Given the description of an element on the screen output the (x, y) to click on. 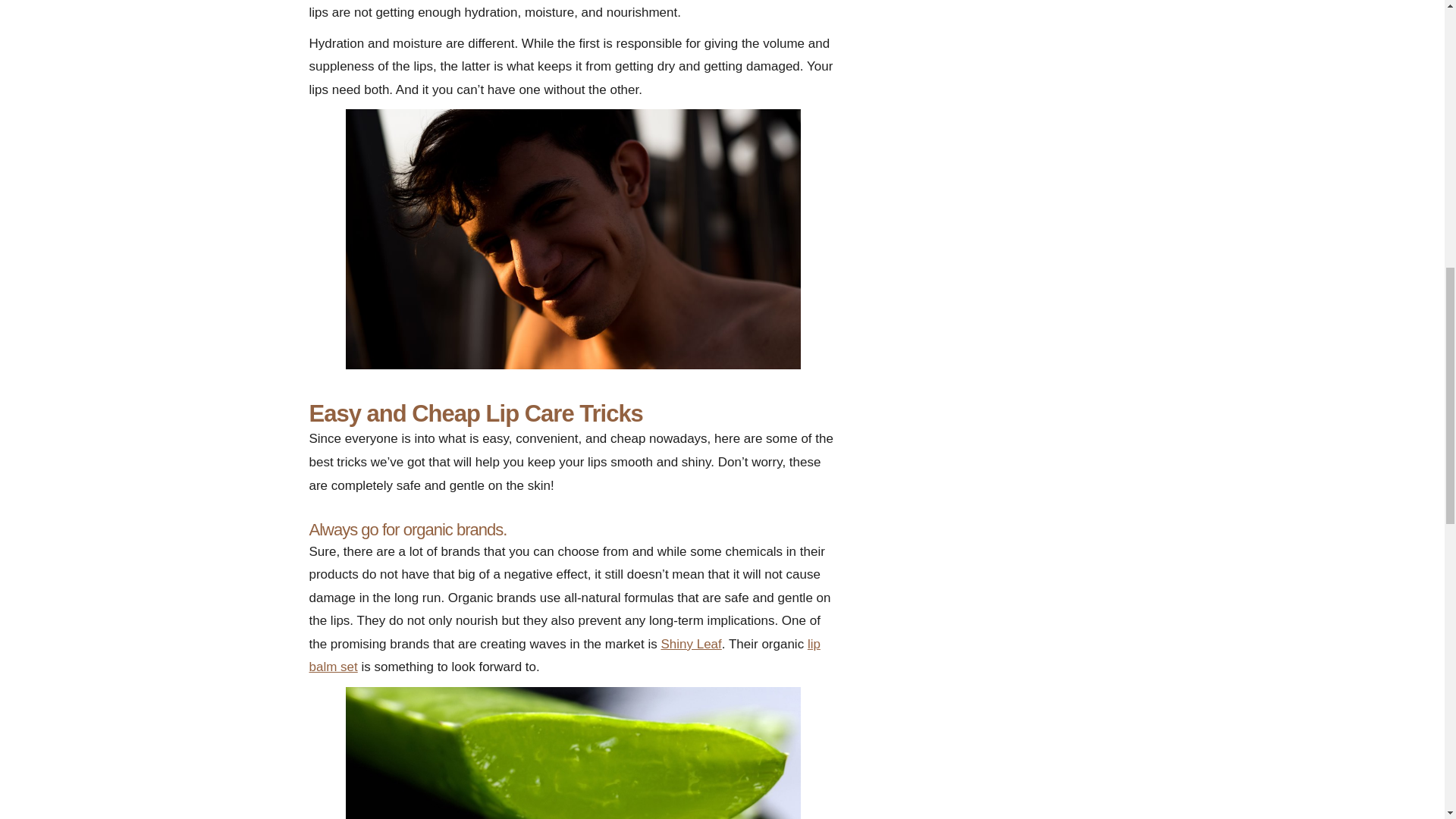
lip balm set (564, 655)
Shiny Leaf (690, 644)
